Given the description of an element on the screen output the (x, y) to click on. 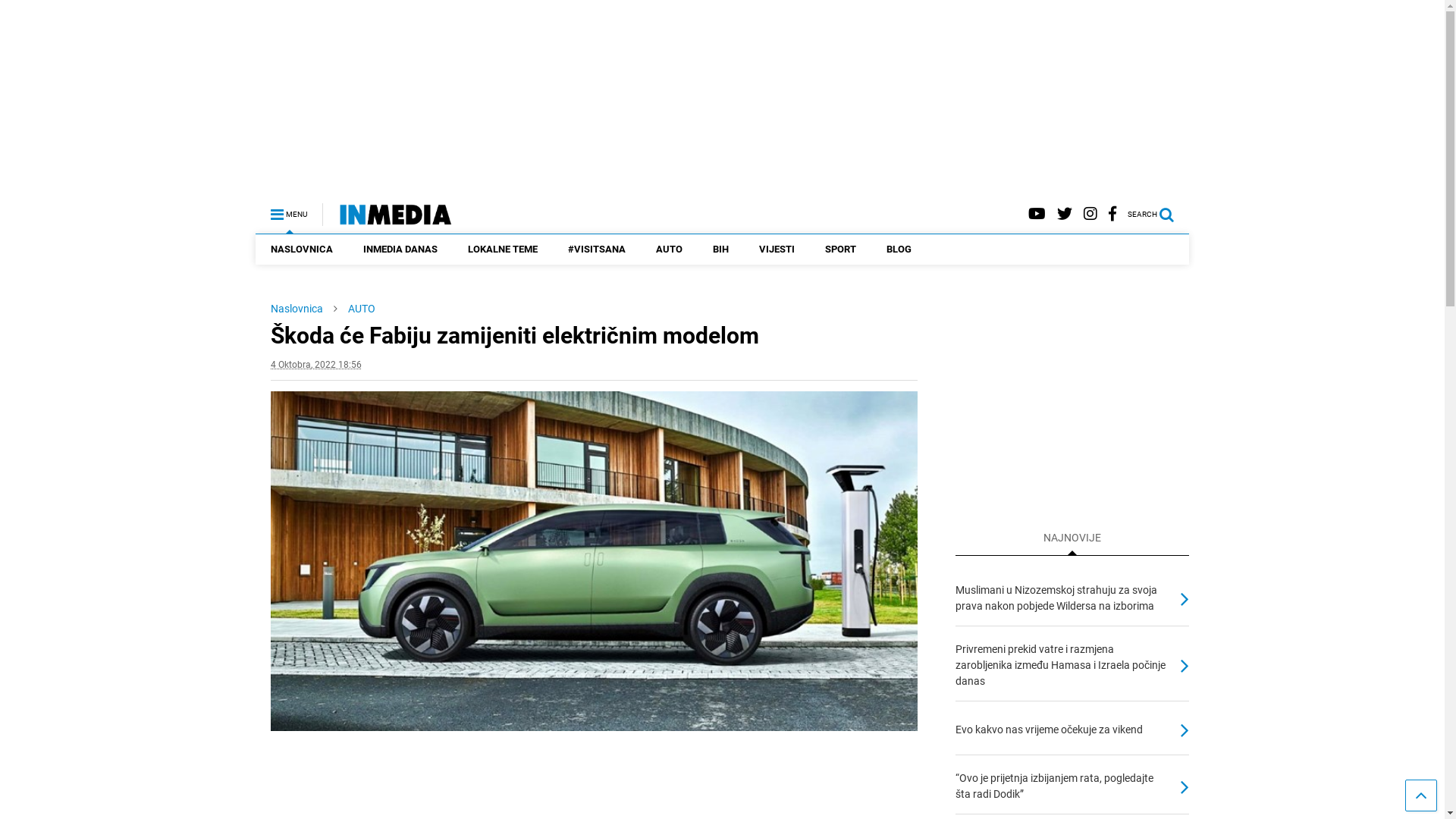
BIH Element type: text (720, 249)
Advertisement Element type: hover (722, 94)
facebook Element type: hover (1112, 214)
BLOG Element type: text (898, 249)
Naslovnica Element type: text (296, 308)
instagram Element type: hover (1090, 214)
youtube Element type: hover (1036, 214)
inmedia.ba Element type: hover (386, 218)
LOKALNE TEME Element type: text (502, 249)
AUTO Element type: text (668, 249)
NASLOVNICA Element type: text (301, 249)
MENU Element type: text (288, 207)
VIJESTI Element type: text (776, 249)
NAJNOVIJE Element type: text (1071, 537)
SEARCH Element type: text (1158, 207)
Advertisement Element type: hover (1082, 393)
4 Oktobra, 2022 18:56 Element type: text (315, 364)
twitter Element type: hover (1064, 214)
#VISITSANA Element type: text (596, 249)
AUTO Element type: text (361, 308)
SPORT Element type: text (840, 249)
INMEDIA DANAS Element type: text (400, 249)
